Given the description of an element on the screen output the (x, y) to click on. 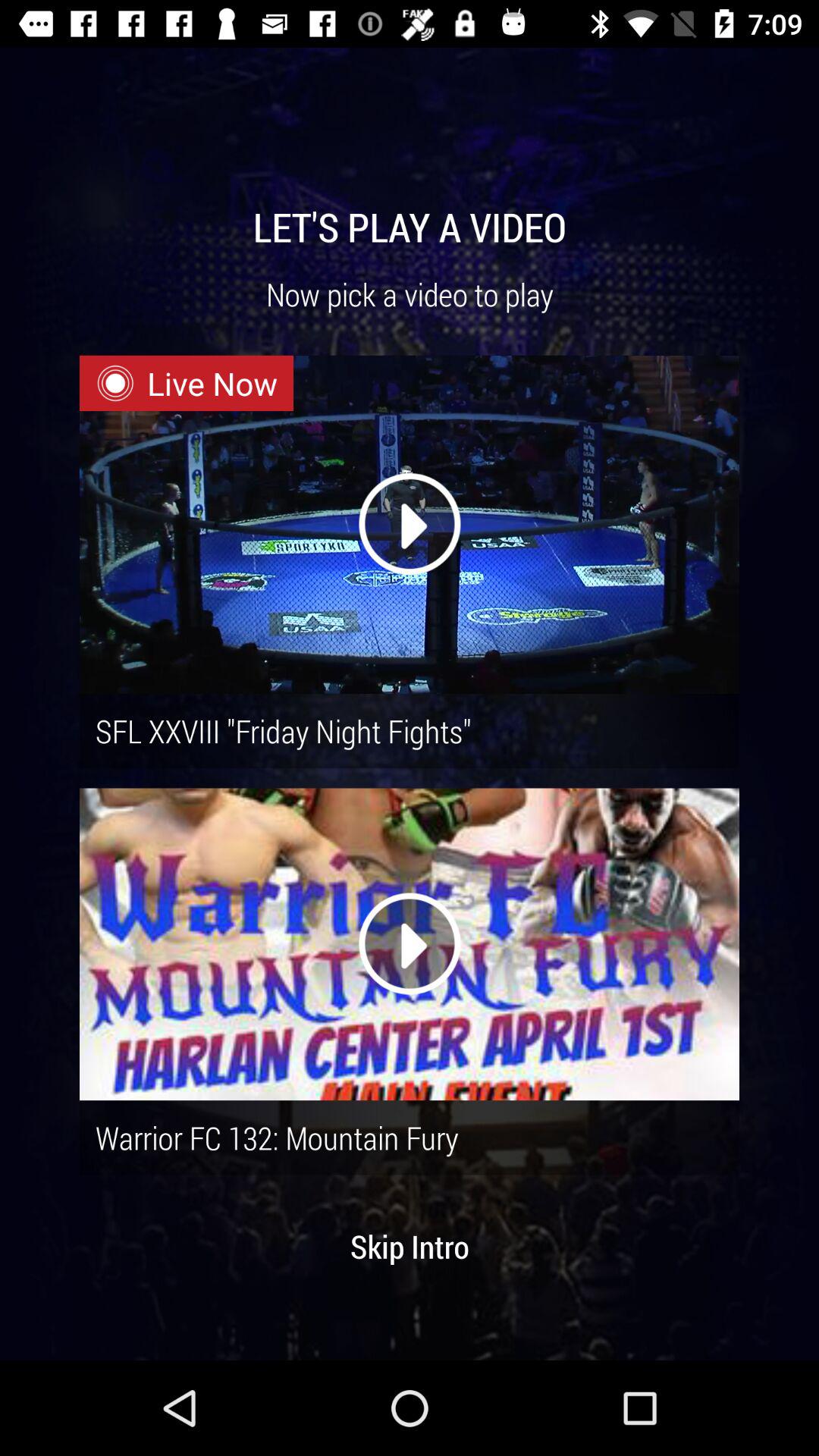
turn on skip intro (409, 1246)
